Given the description of an element on the screen output the (x, y) to click on. 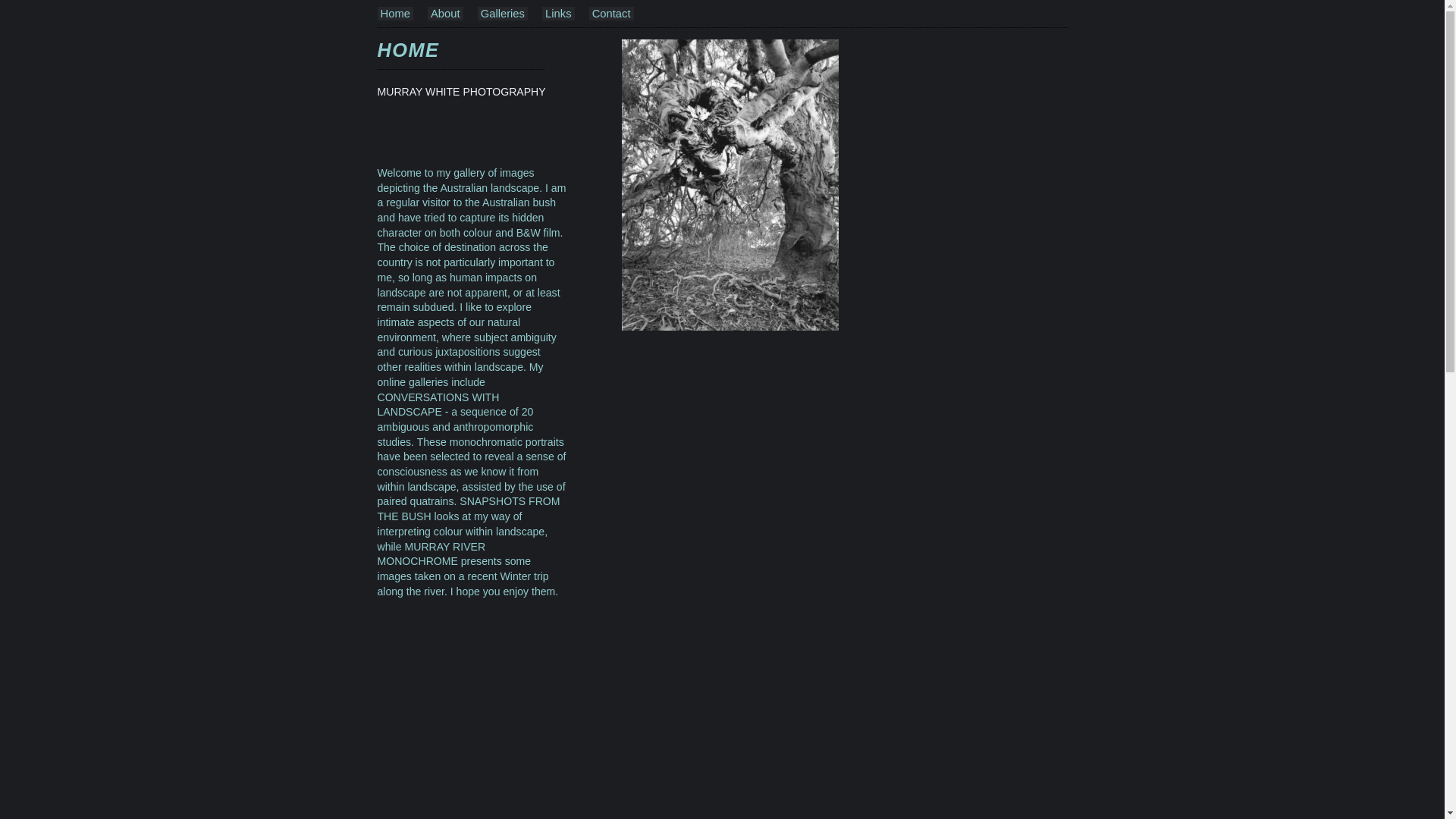
Home Element type: text (395, 13)
Contact Element type: text (611, 13)
Links Element type: text (558, 13)
About Element type: text (445, 13)
Galleries Element type: text (502, 13)
